Given the description of an element on the screen output the (x, y) to click on. 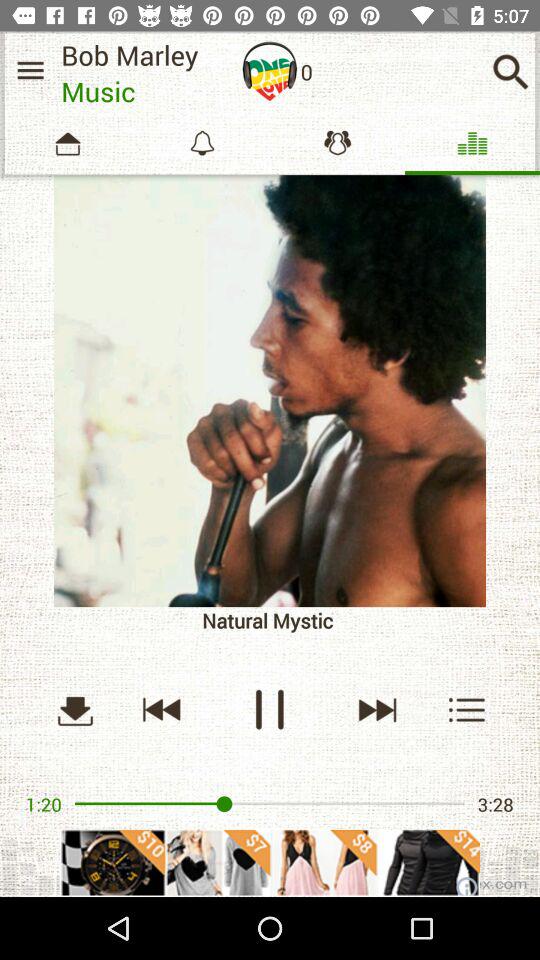
go to previous (162, 709)
